Given the description of an element on the screen output the (x, y) to click on. 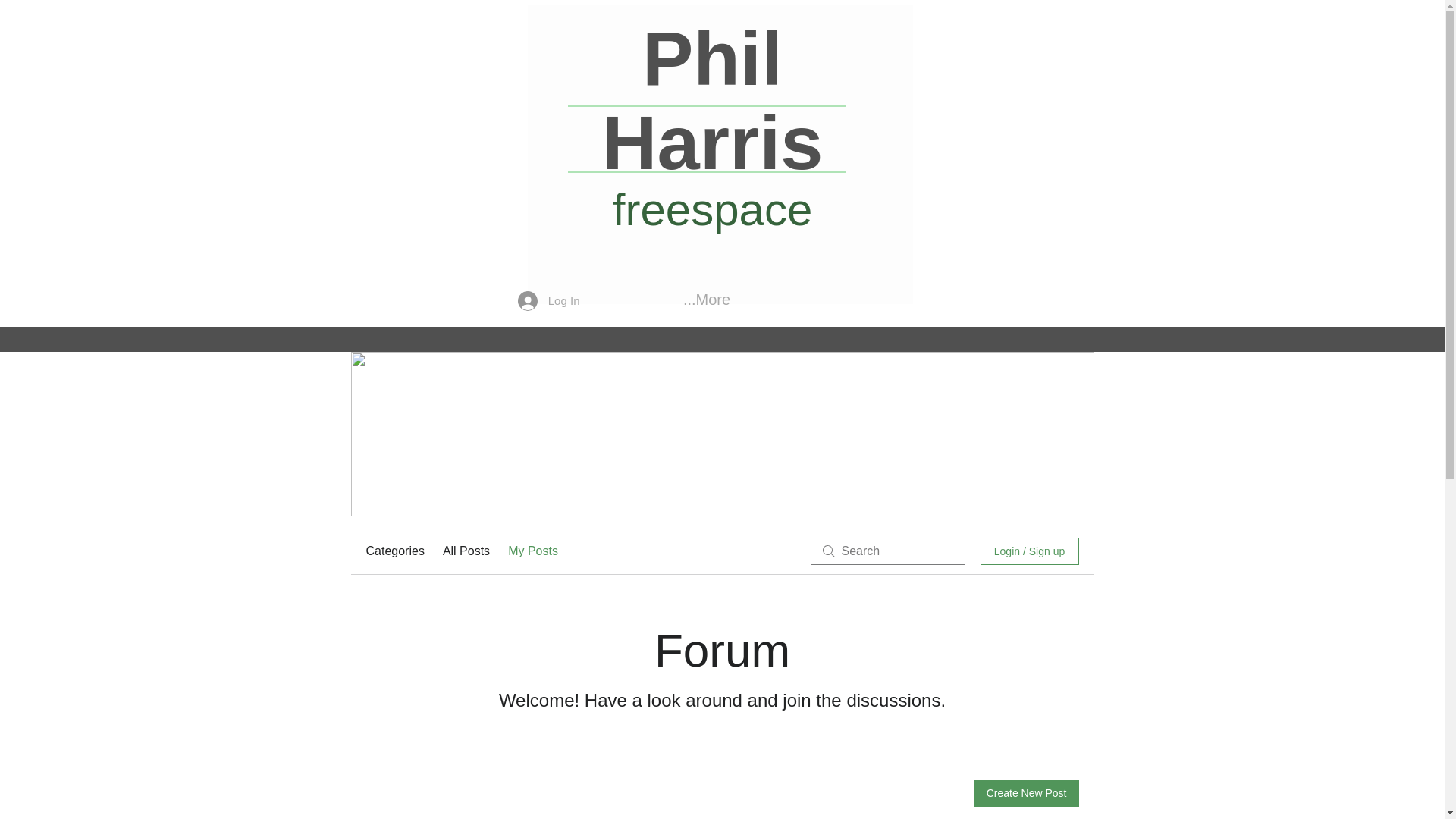
Categories (394, 551)
Create New Post (1026, 792)
My Posts (532, 551)
All Posts (465, 551)
Log In (548, 300)
